Given the description of an element on the screen output the (x, y) to click on. 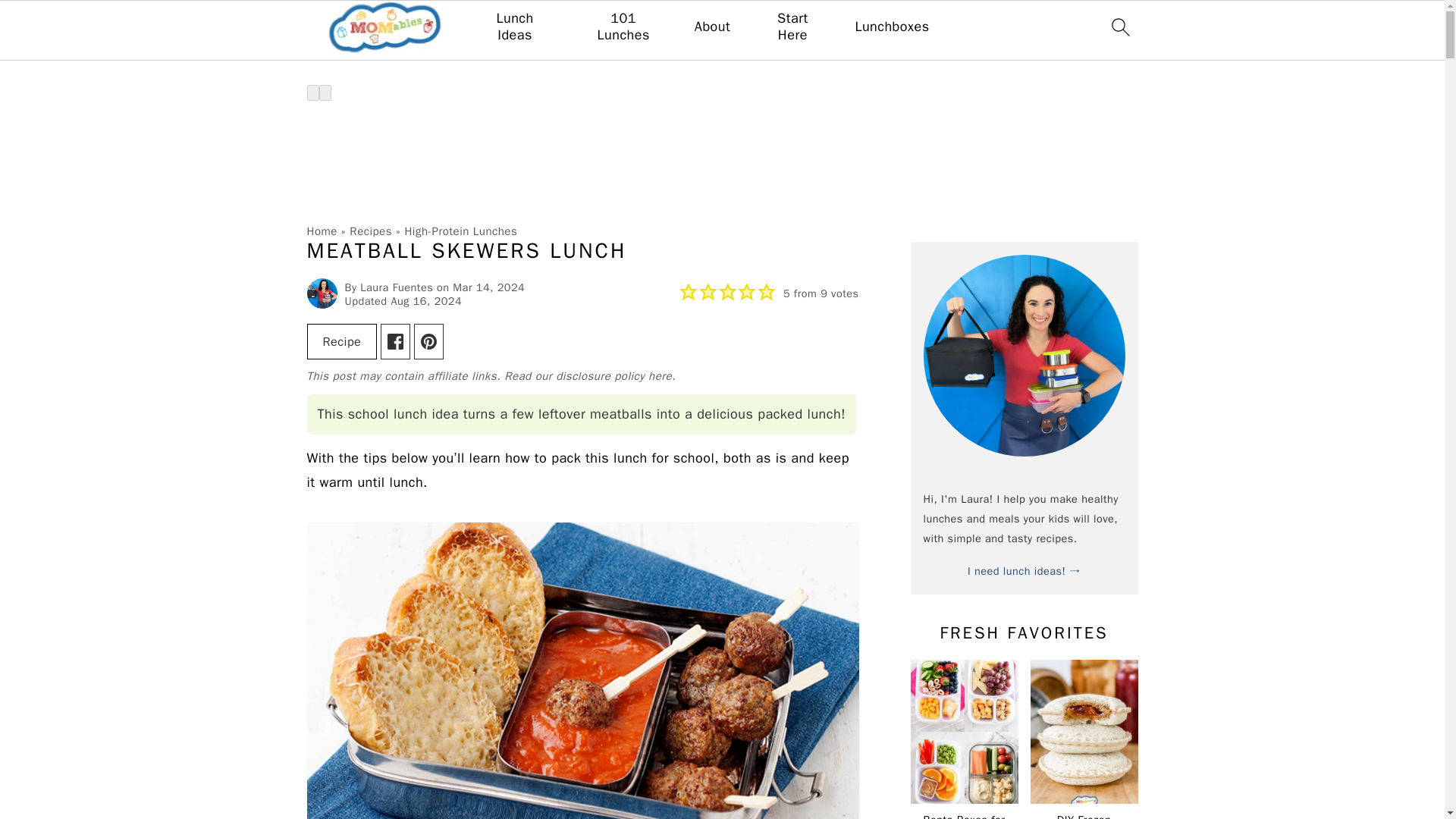
search icon (1119, 26)
Start Here (792, 26)
Lunchboxes (891, 27)
Lunch Ideas (515, 26)
About (712, 27)
101 Lunches (623, 26)
